Given the description of an element on the screen output the (x, y) to click on. 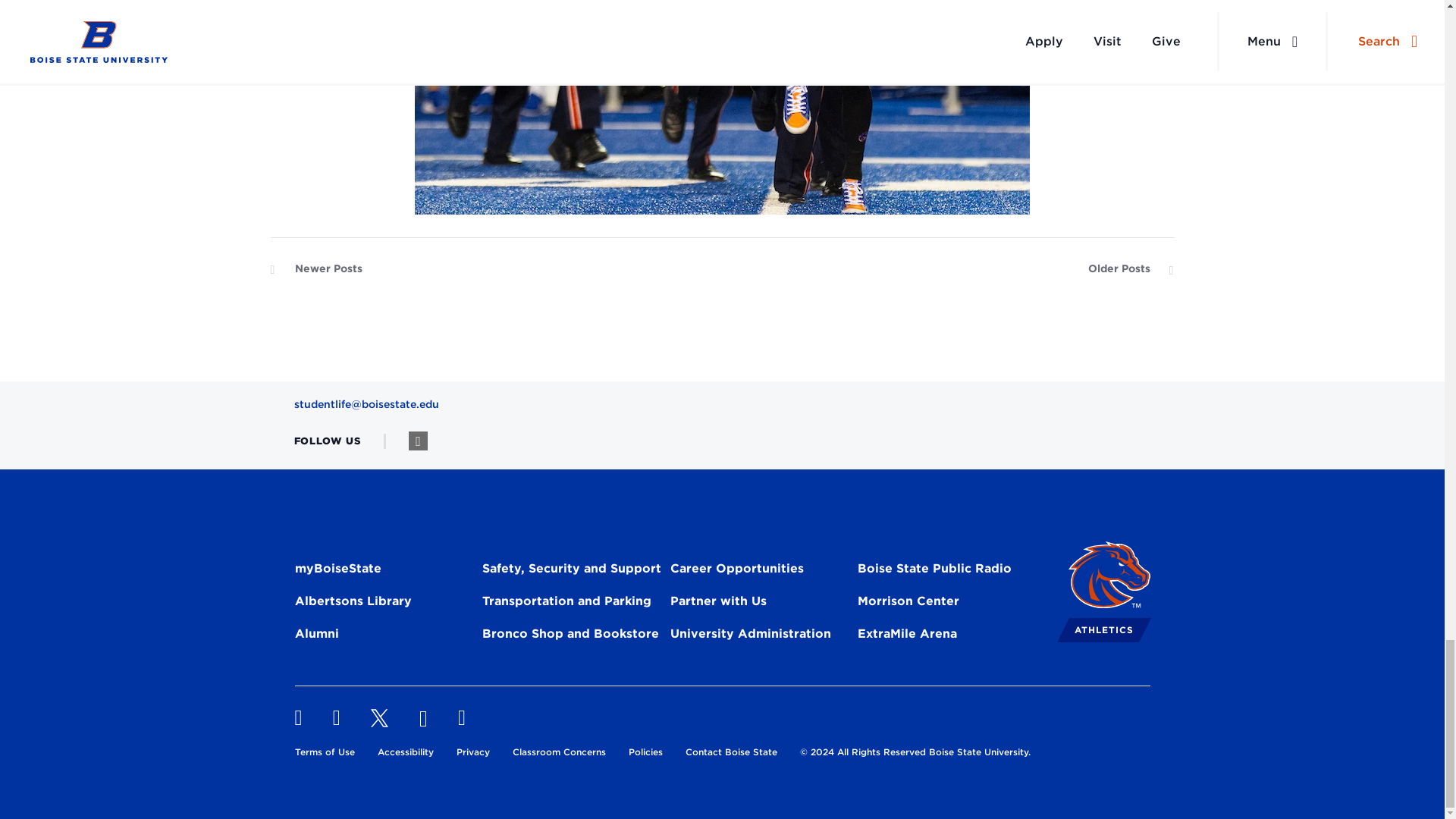
Follow us on Instagram (418, 440)
myBoiseState (337, 570)
Safety, Security and Support (571, 570)
Career Opportunities (736, 570)
Newer Posts (315, 272)
Albertsons Library (352, 603)
Boise State Public Radio (934, 570)
Older Posts (1130, 272)
Follow us on X (379, 718)
